Given the description of an element on the screen output the (x, y) to click on. 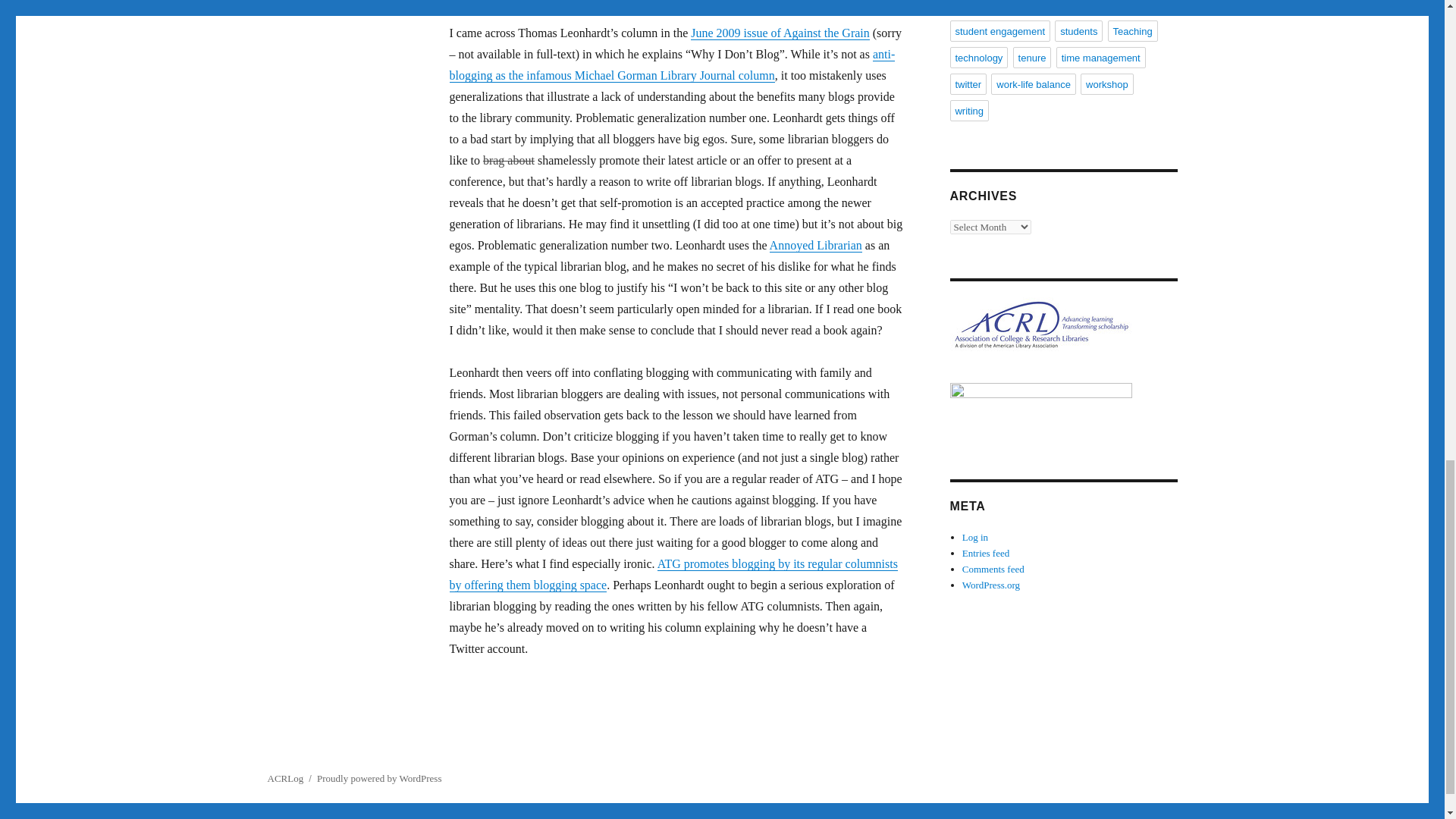
June 2009 issue of Against the Grain (779, 32)
Annoyed Librarian (815, 245)
